Given the description of an element on the screen output the (x, y) to click on. 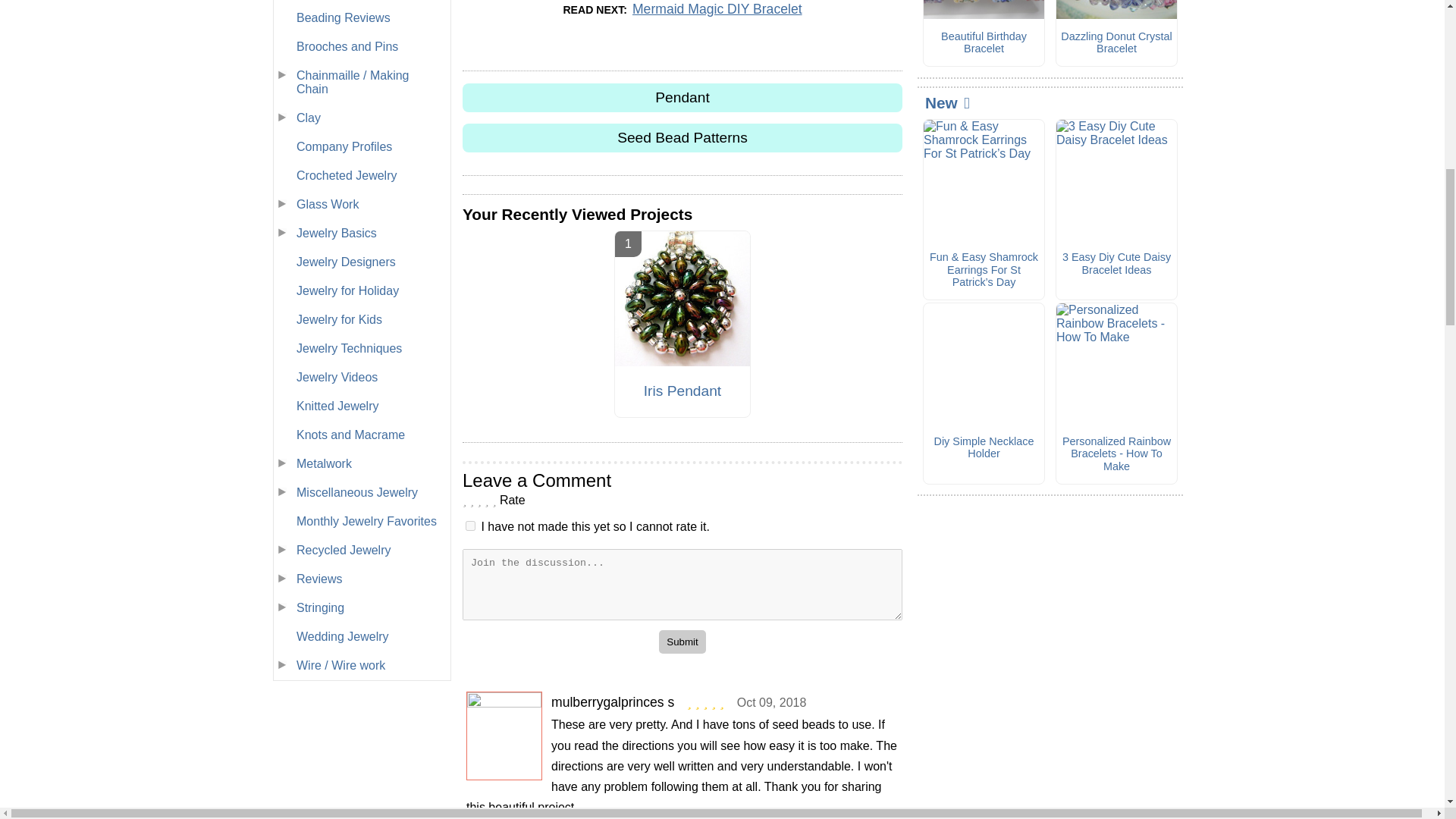
1 (470, 525)
Submit (681, 641)
